Given the description of an element on the screen output the (x, y) to click on. 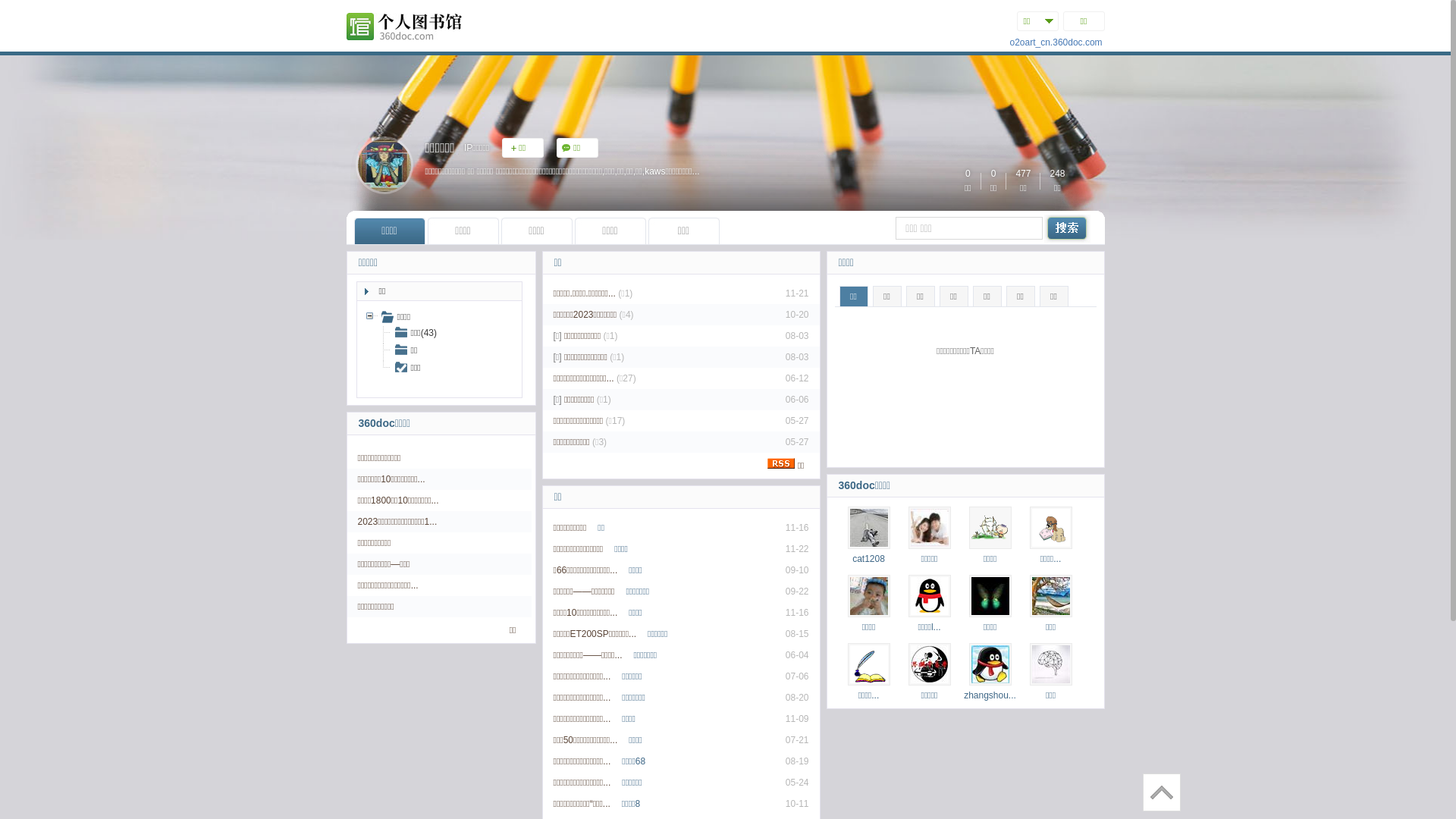
o2oart_cn.360doc.com Element type: text (1056, 42)
cat1208 Element type: text (868, 558)
zhangshou... Element type: text (989, 695)
